Given the description of an element on the screen output the (x, y) to click on. 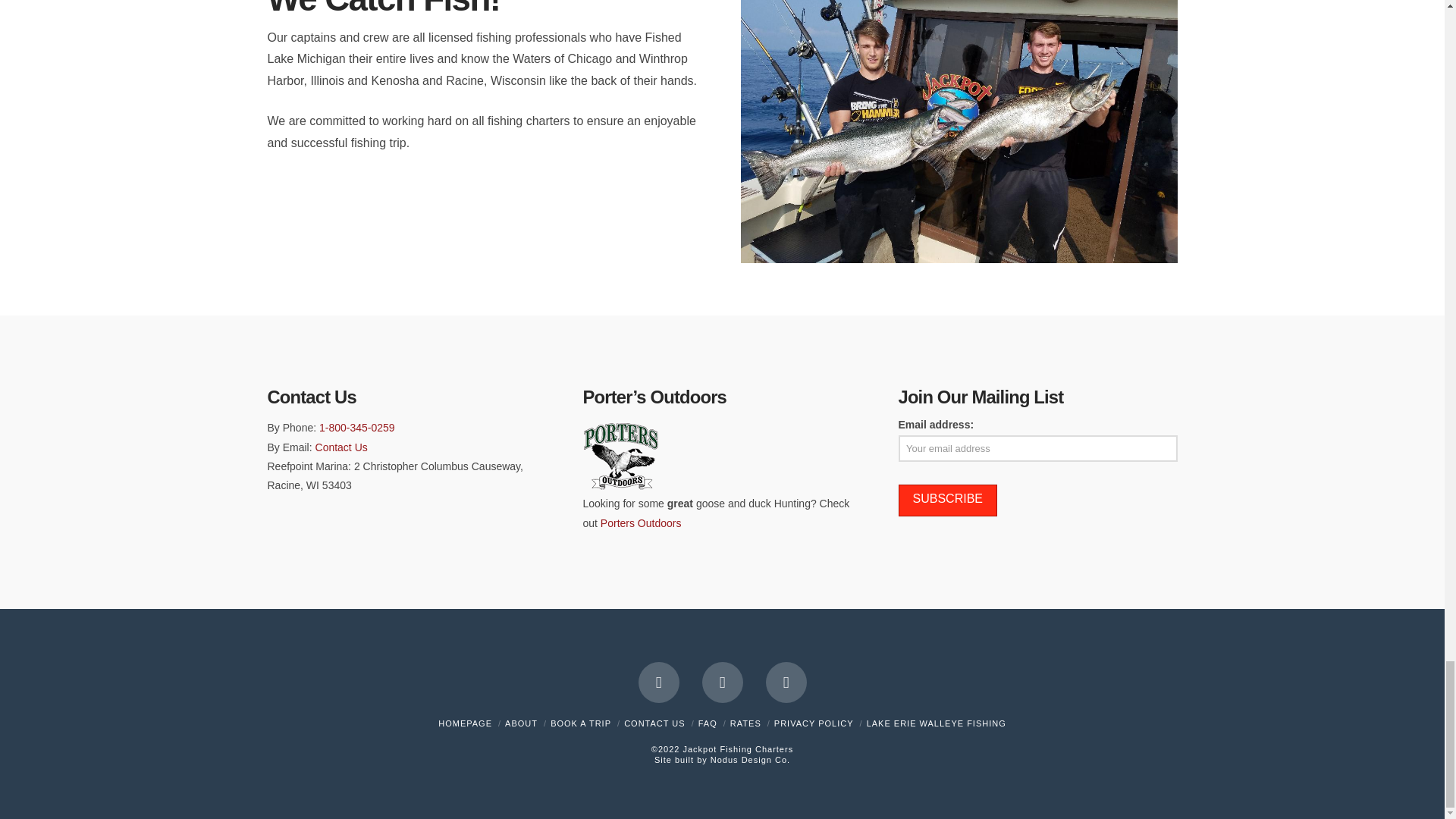
Facebook (659, 681)
Porters Outdoors (640, 522)
Subscribe (946, 500)
Contact Us (341, 447)
1-800-345-0259 (356, 427)
HOMEPAGE (465, 723)
Twitter (721, 681)
Instagram (785, 681)
Subscribe (946, 500)
